Given the description of an element on the screen output the (x, y) to click on. 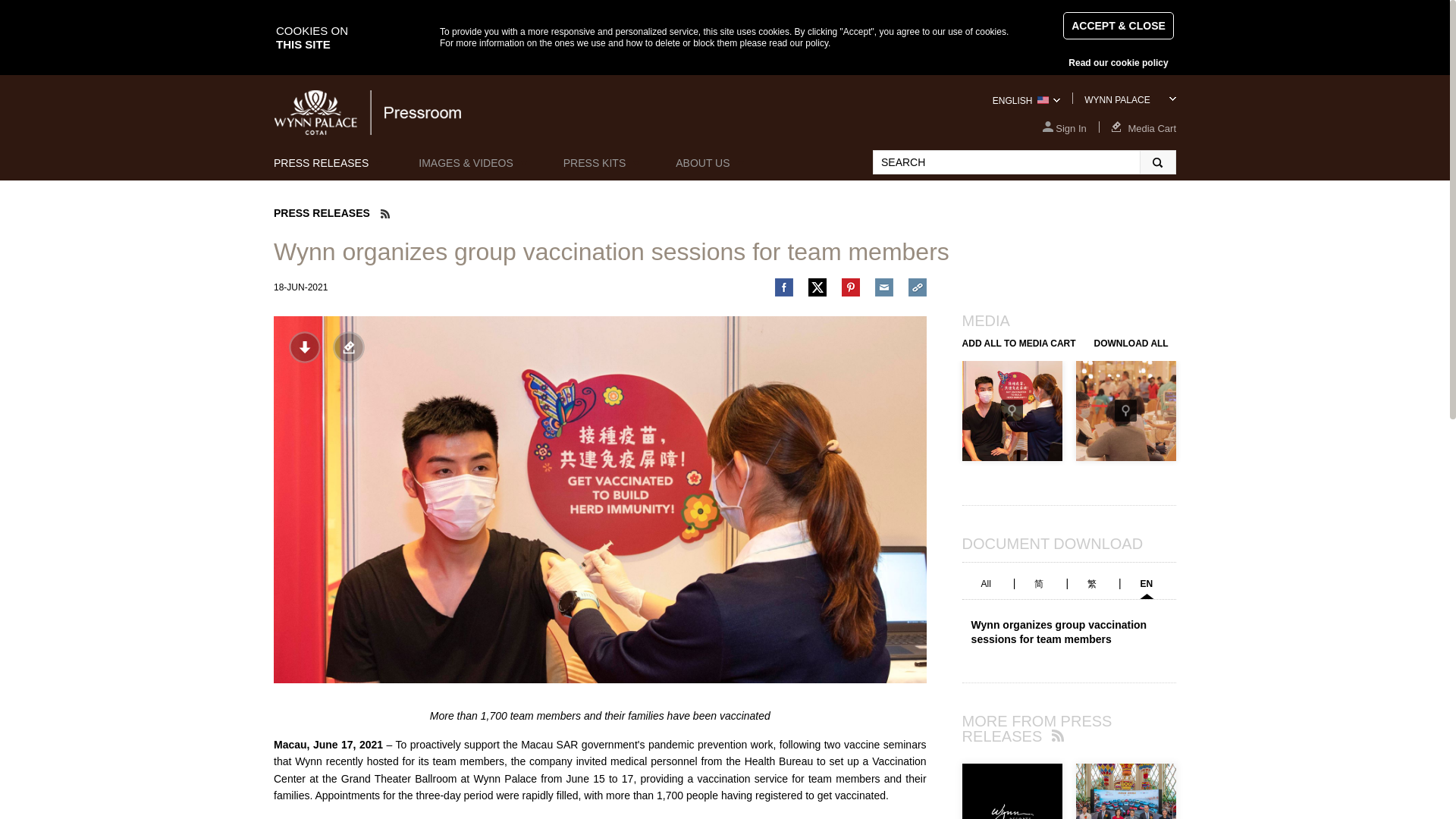
View (1012, 410)
Add to Media Cart (349, 347)
Over 1,700 people got vaccinated (1012, 411)
